Given the description of an element on the screen output the (x, y) to click on. 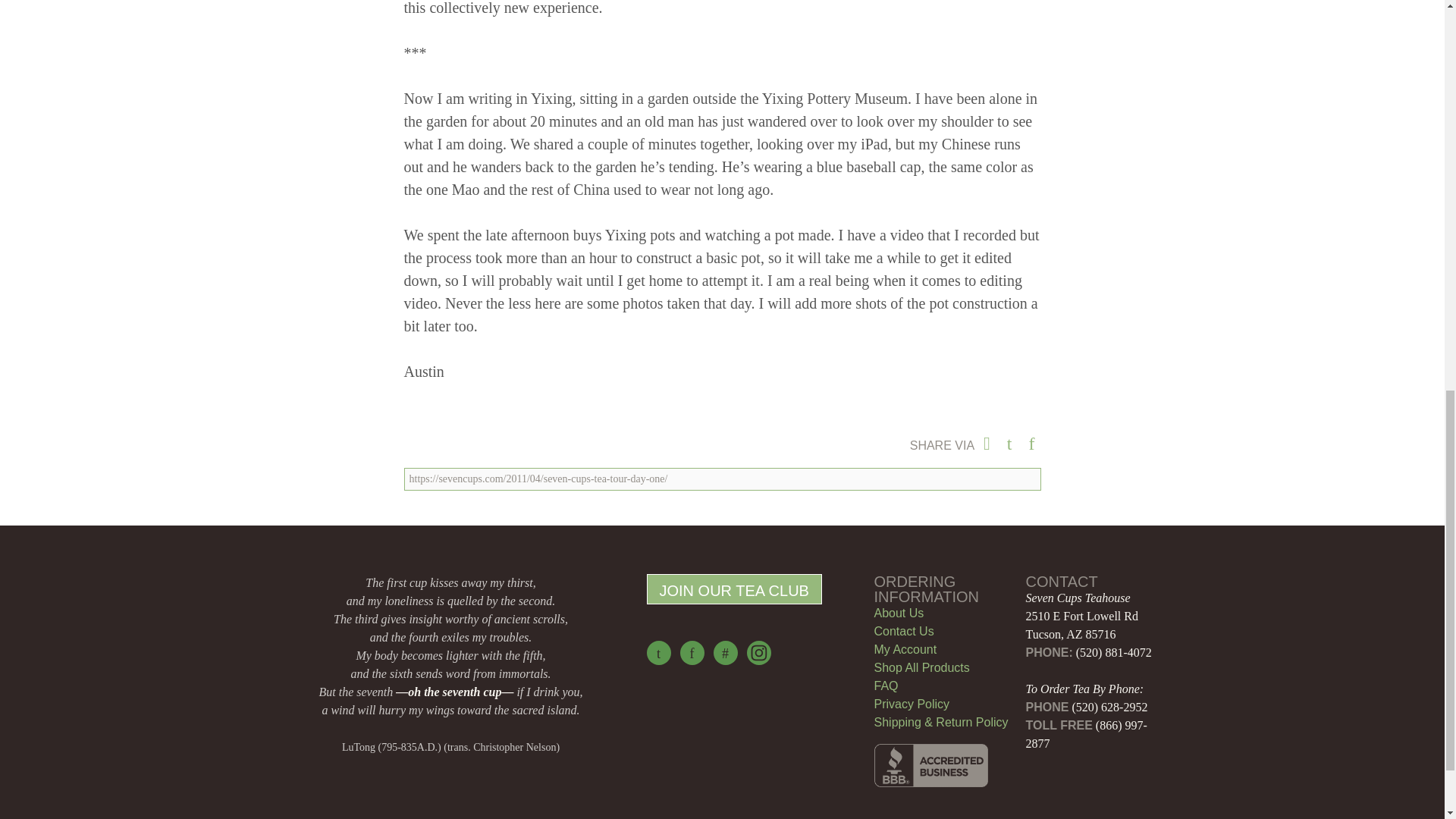
Facebook (691, 652)
Instagram (757, 652)
Contact Us (903, 631)
Instagram (759, 652)
YouTube (724, 652)
Instagram (757, 652)
About Us (898, 612)
Twitter (657, 652)
JOIN OUR TEA CLUB (733, 589)
My Account (904, 649)
